Given the description of an element on the screen output the (x, y) to click on. 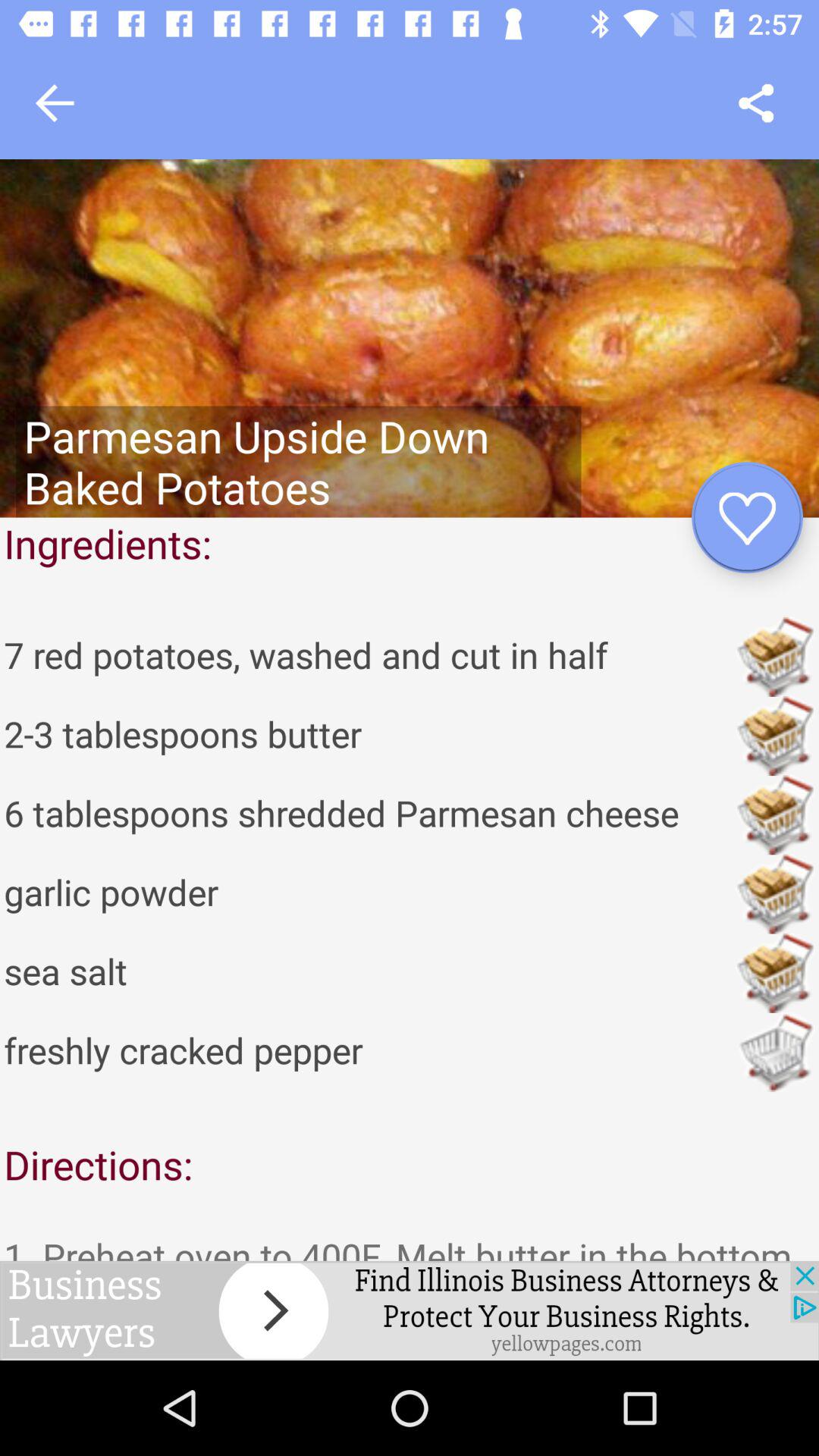
share page (756, 103)
